Given the description of an element on the screen output the (x, y) to click on. 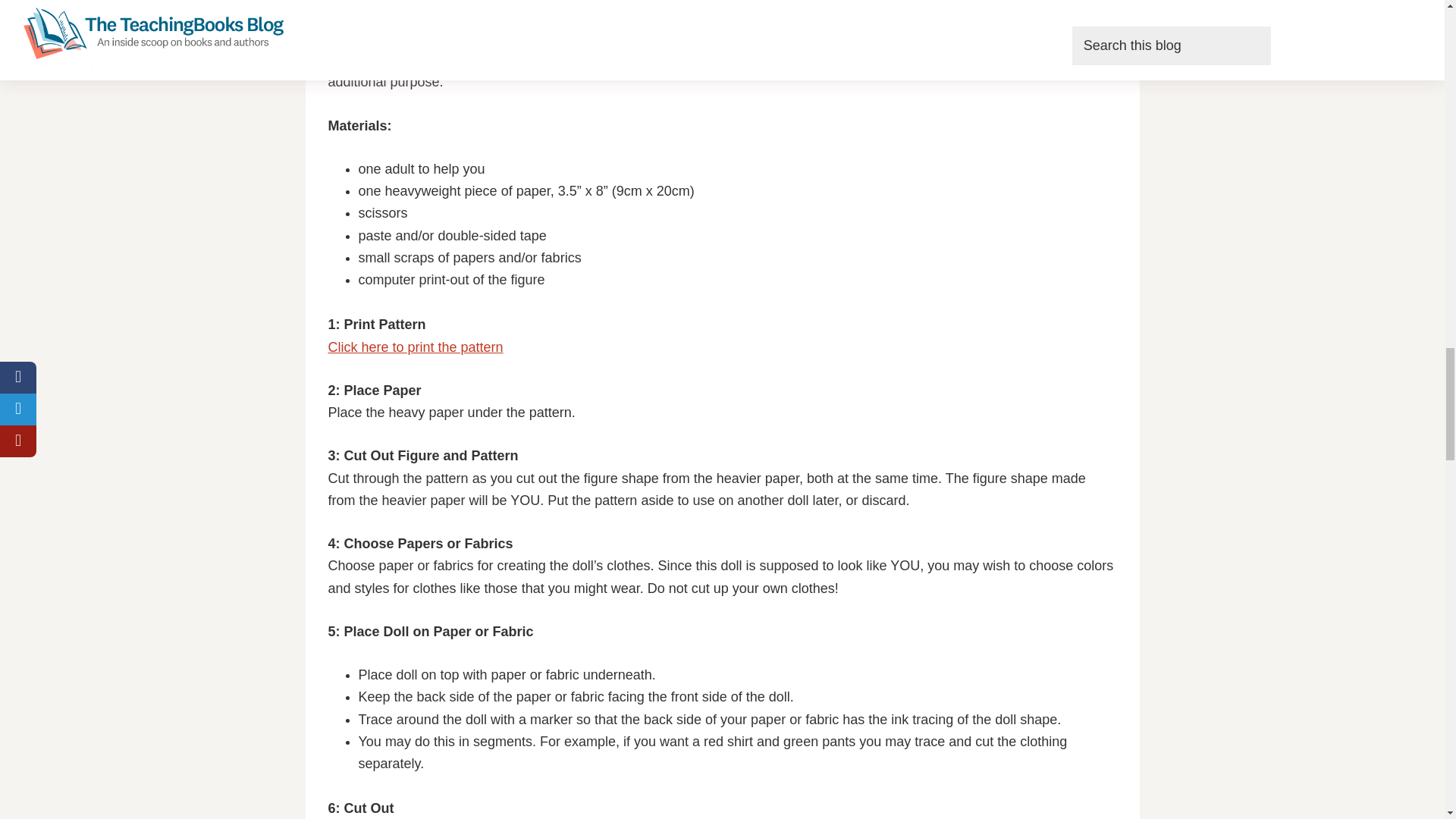
Click here to print the pattern (414, 346)
